Given the description of an element on the screen output the (x, y) to click on. 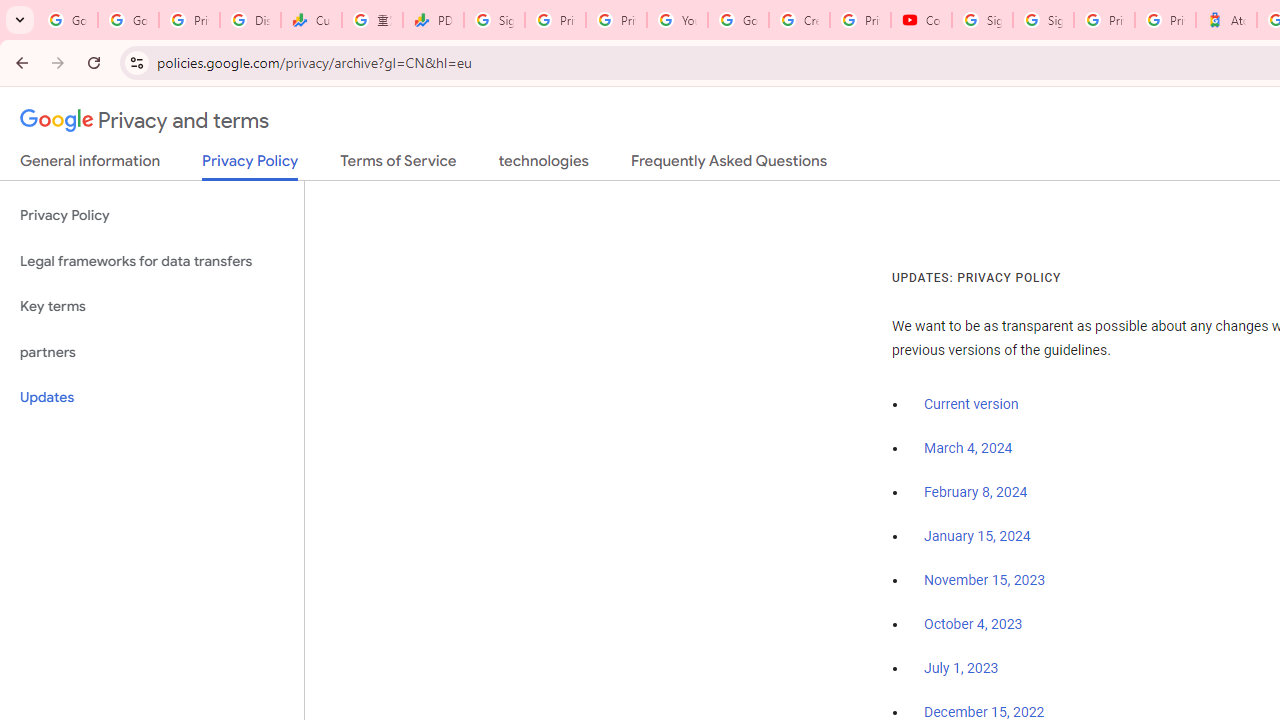
Google Account Help (738, 20)
PDD Holdings Inc - ADR (PDD) Price & News - Google Finance (433, 20)
March 4, 2024 (968, 448)
Key terms (152, 306)
YouTube (676, 20)
